Given the description of an element on the screen output the (x, y) to click on. 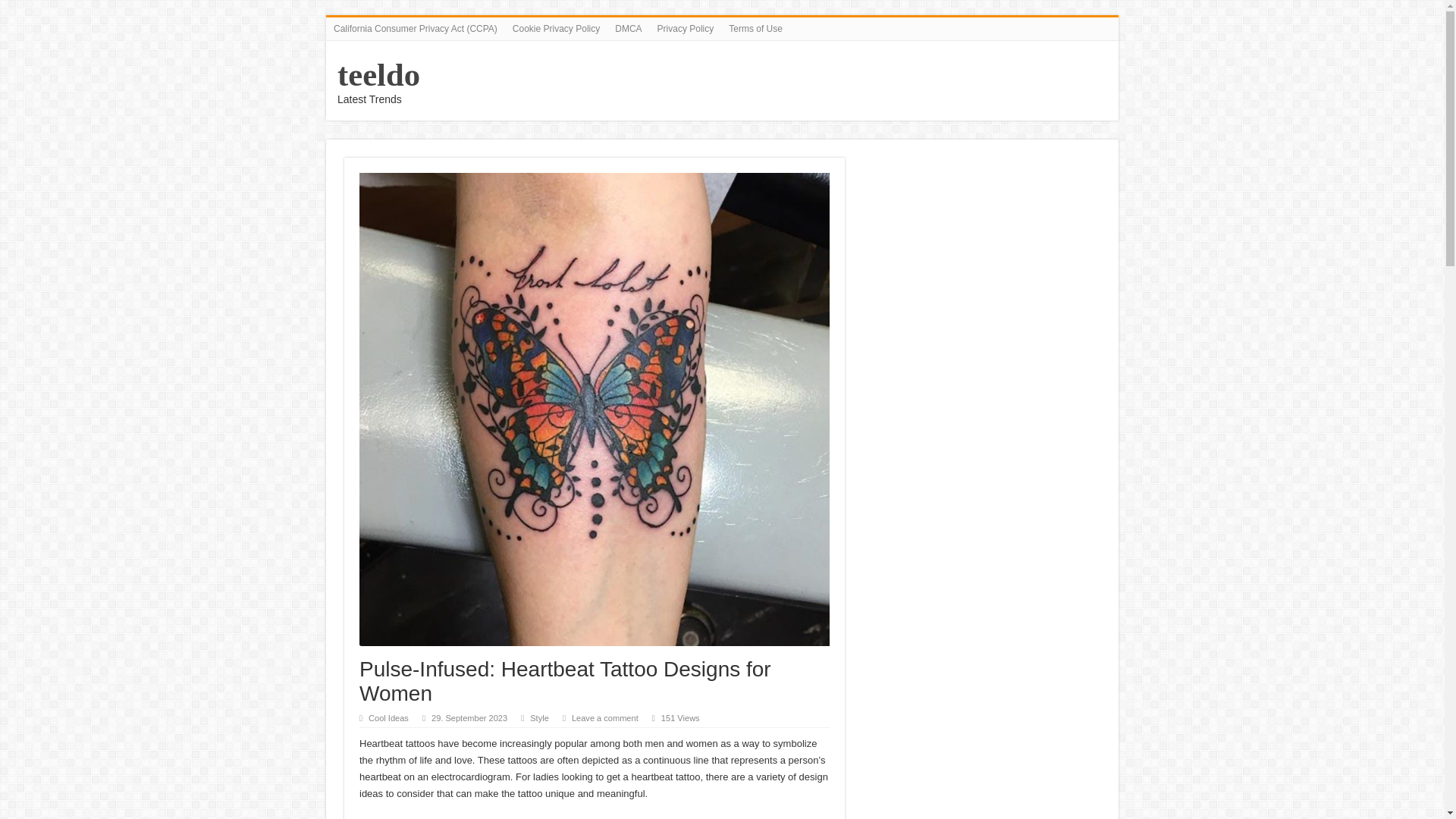
DMCA (628, 28)
Privacy Policy (685, 28)
Terms of Use (755, 28)
Style (538, 717)
Leave a comment (605, 717)
teeldo (378, 74)
Cookie Privacy Policy (556, 28)
Cool Ideas (388, 717)
